Given the description of an element on the screen output the (x, y) to click on. 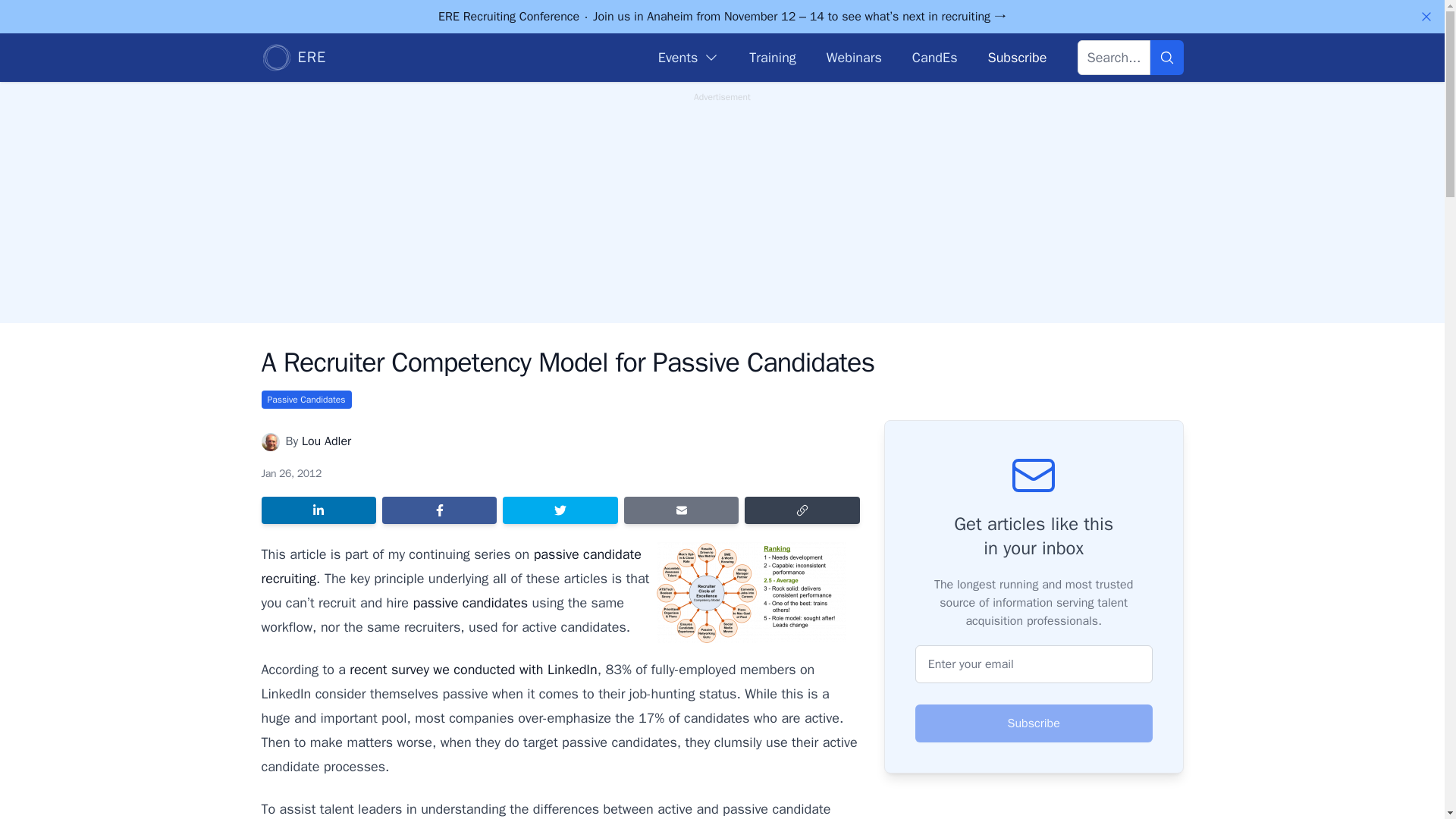
Subscribe (1034, 723)
Subscribe (1016, 56)
Webinars (854, 56)
CandEs (935, 56)
ERE (293, 57)
Events (688, 56)
recent survey we conducted with LinkedIn (472, 669)
Lou Adler (325, 441)
passive candidate recruiting (450, 566)
Dismiss (1425, 16)
Training (771, 56)
Passive Candidates (305, 399)
passive candidates (469, 602)
Recruiter Circle of Excellence.jpg (750, 592)
